Given the description of an element on the screen output the (x, y) to click on. 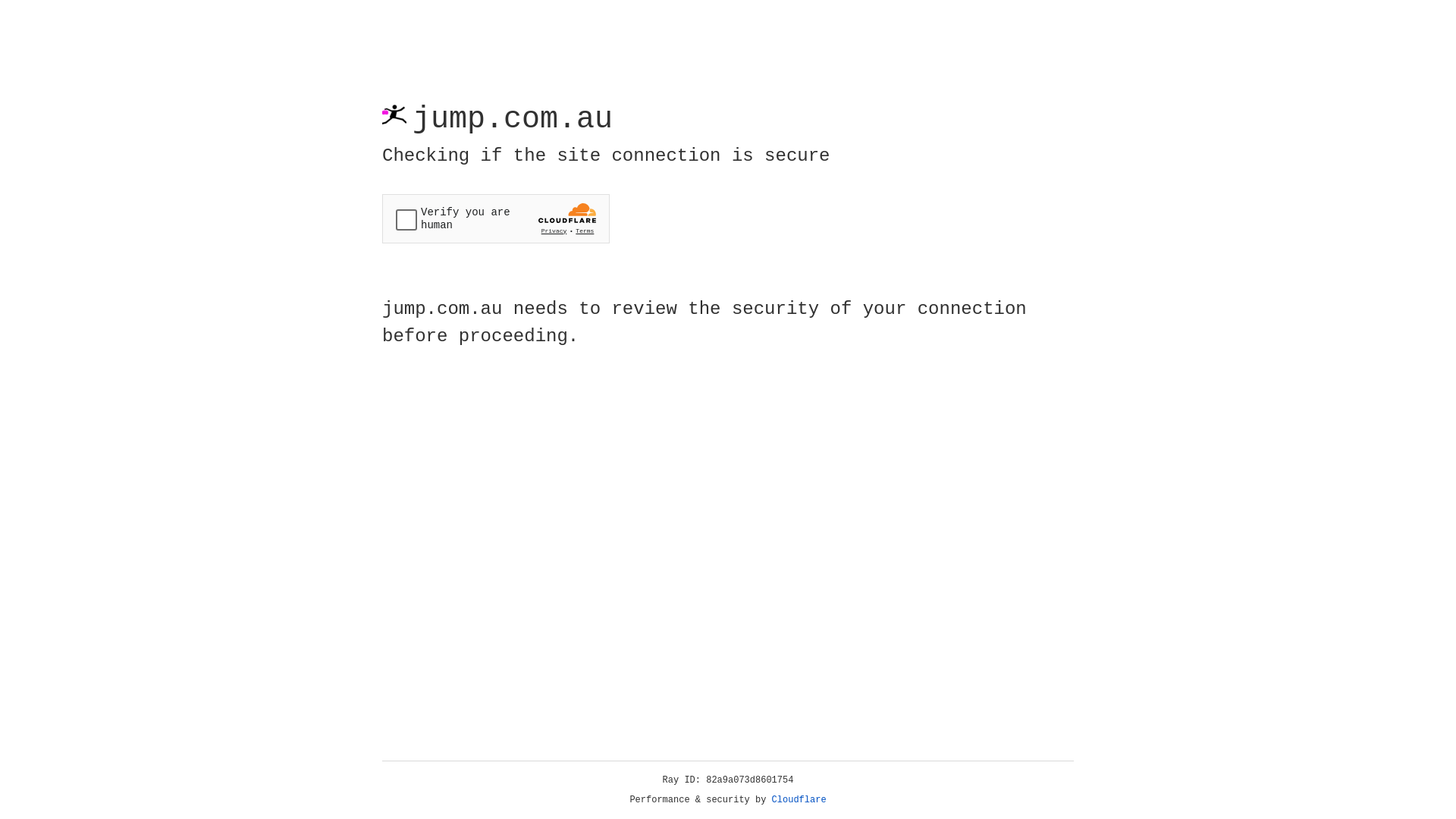
Cloudflare Element type: text (798, 799)
Widget containing a Cloudflare security challenge Element type: hover (495, 218)
